Given the description of an element on the screen output the (x, y) to click on. 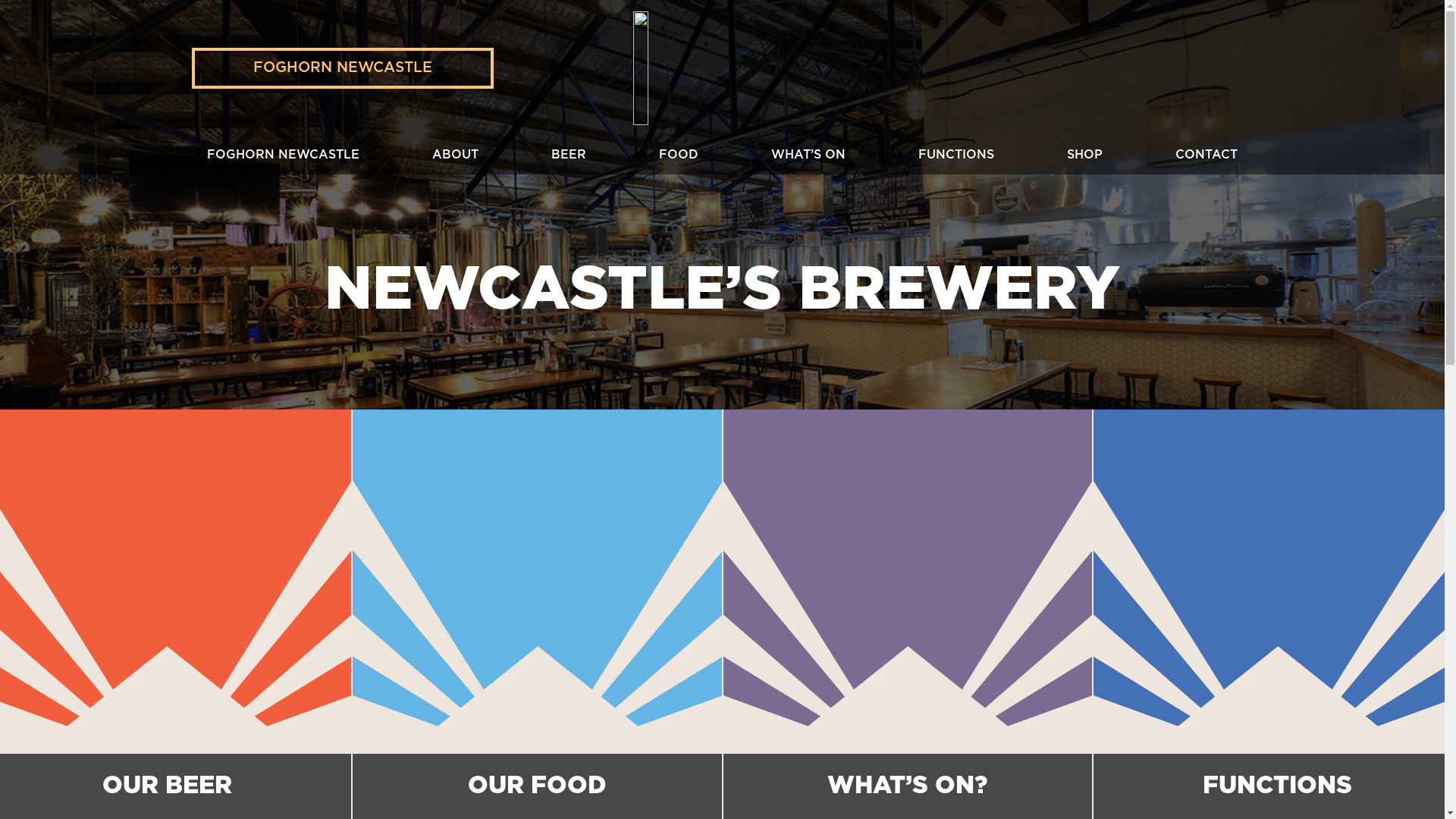
ABOUT Element type: text (455, 155)
FOGHORN NEWCASTLE Element type: text (342, 67)
FOGHORN NEWCASTLE Element type: text (282, 155)
FUNCTIONS Element type: text (956, 155)
BEER Element type: text (568, 155)
FOOD Element type: text (678, 155)
CONTACT Element type: text (1206, 155)
SHOP Element type: text (1084, 155)
